Given the description of an element on the screen output the (x, y) to click on. 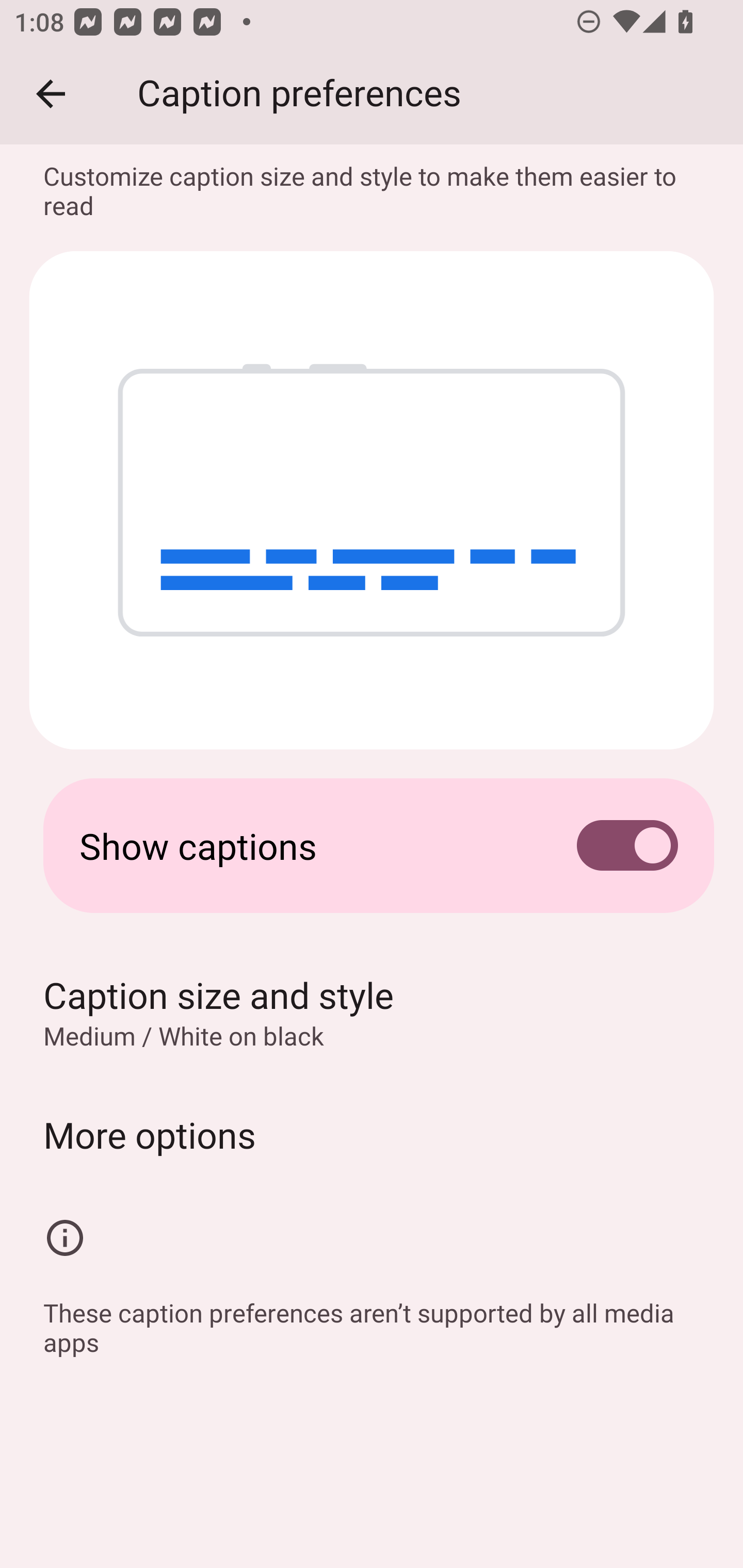
Navigate up (50, 93)
Show captions (371, 845)
Caption size and style Medium / White on black (371, 1011)
More options (371, 1133)
